Given the description of an element on the screen output the (x, y) to click on. 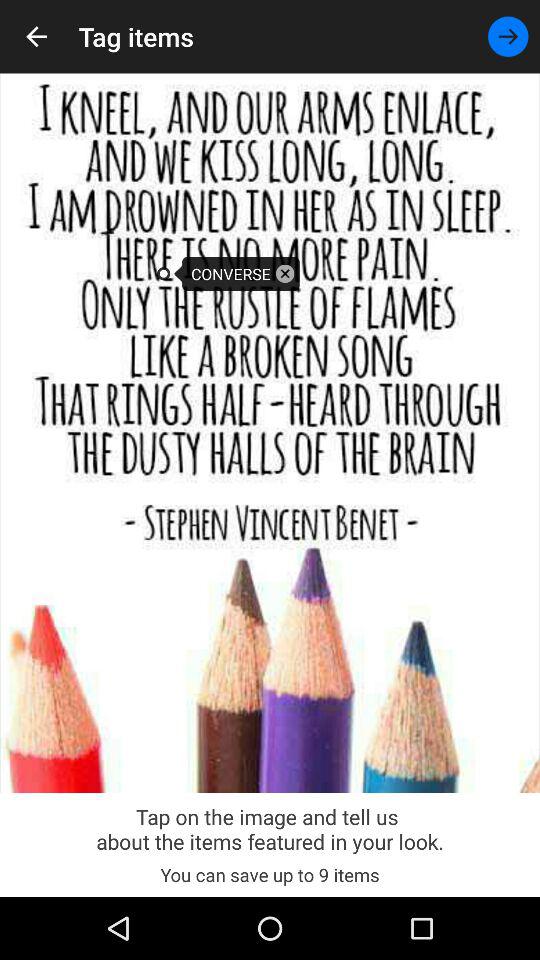
delete button (285, 273)
